Given the description of an element on the screen output the (x, y) to click on. 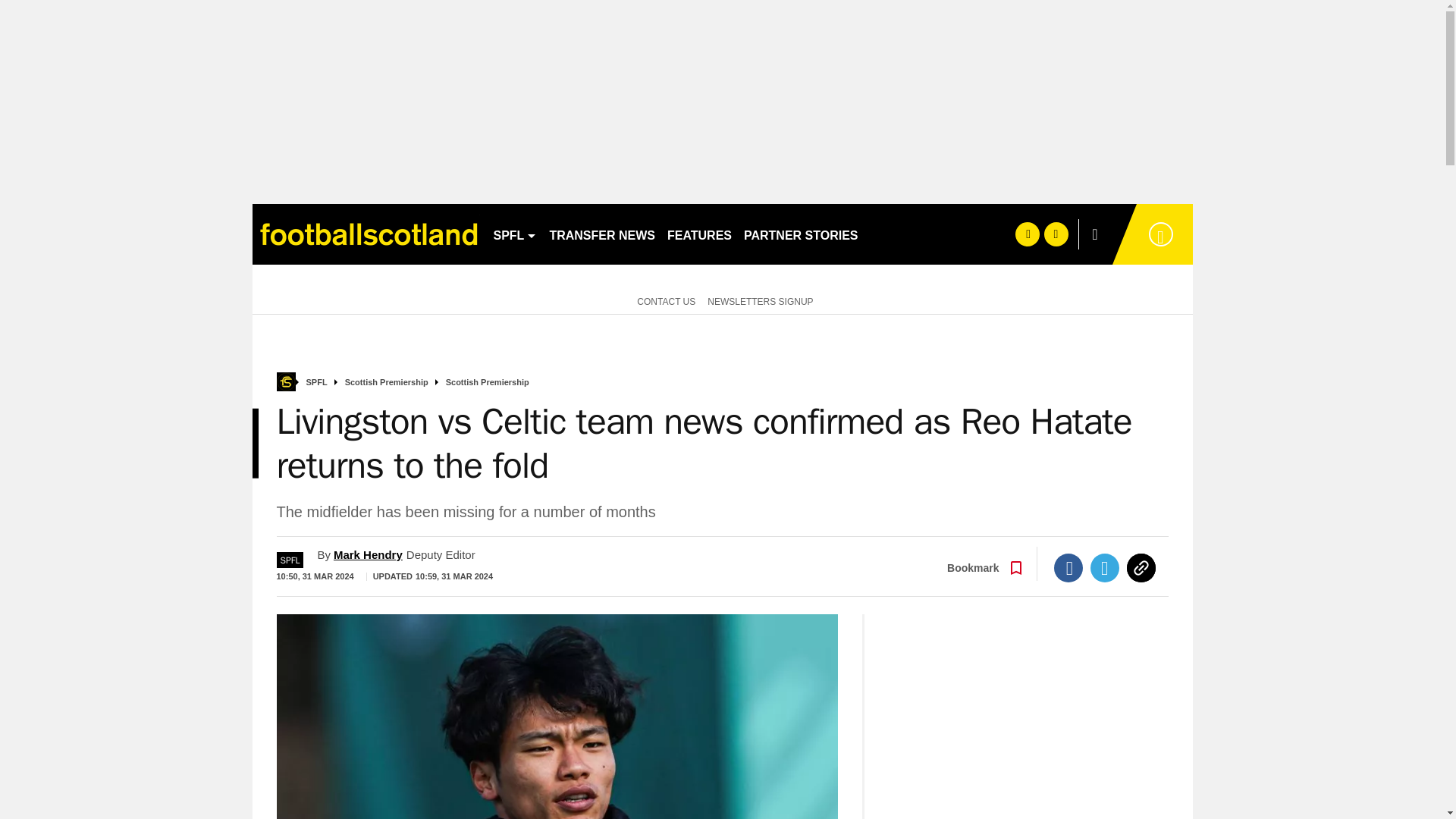
Mark Hendry (368, 554)
twitter (1055, 233)
Scottish Premiership (386, 382)
PARTNER STORIES (801, 233)
FEATURES (699, 233)
CONTACT US (662, 300)
Facebook (1068, 567)
SPFL (514, 233)
SPFL (289, 560)
frontpage (285, 381)
